Given the description of an element on the screen output the (x, y) to click on. 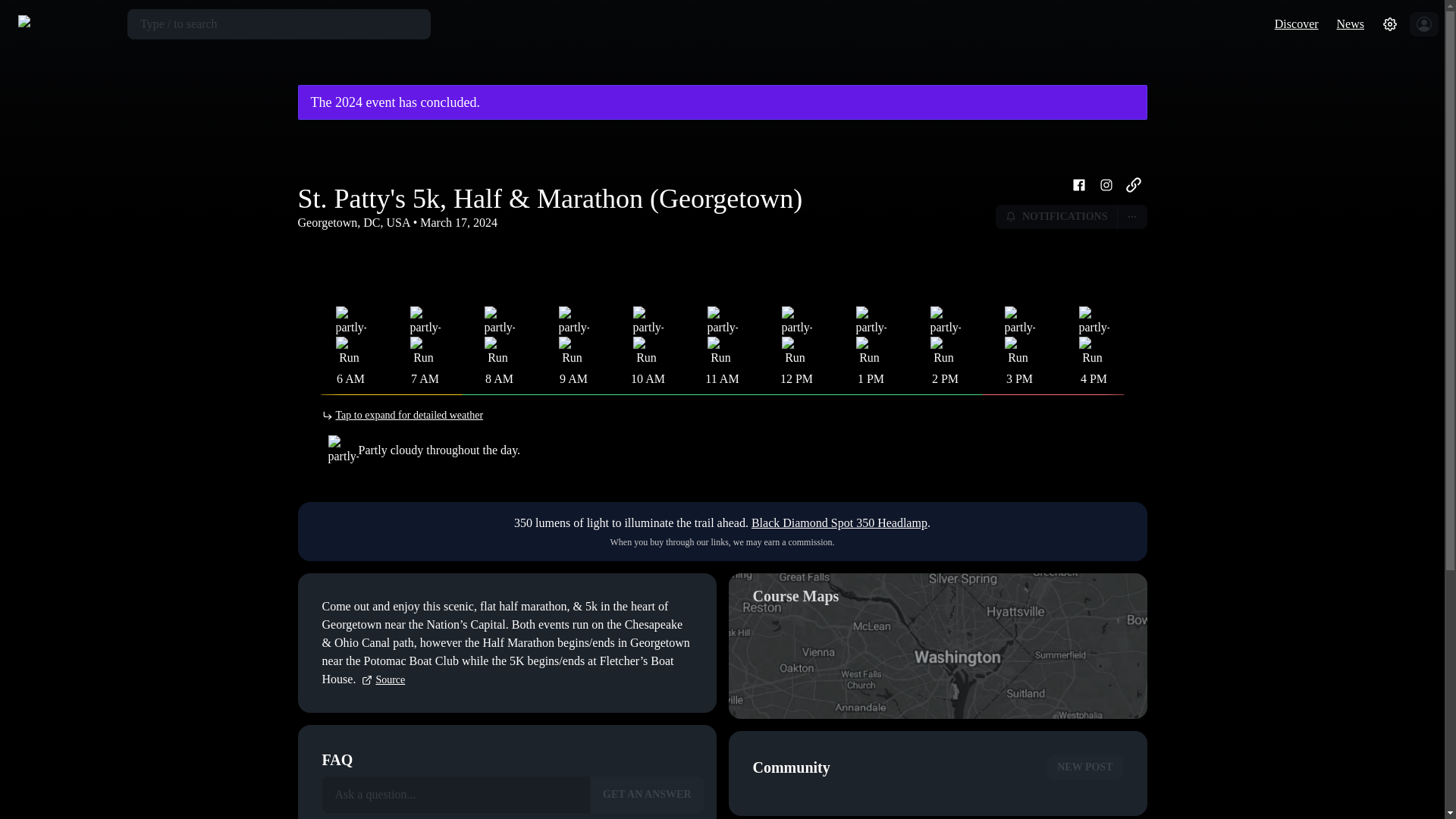
Instagram (1105, 185)
Facebook (1078, 185)
Run Score: 9 (422, 349)
partly-cloudy-day (795, 321)
Home (66, 24)
News (1350, 23)
partly-cloudy-night (424, 321)
partly-cloudy-day (572, 321)
partly-cloudy-day (721, 321)
partly-cloudy-night (349, 321)
Run Score: 9 (497, 349)
Official Race Website (1133, 185)
partly-cloudy-day (498, 321)
Run Score: 9 (571, 349)
Run Score: 9 (719, 349)
